Given the description of an element on the screen output the (x, y) to click on. 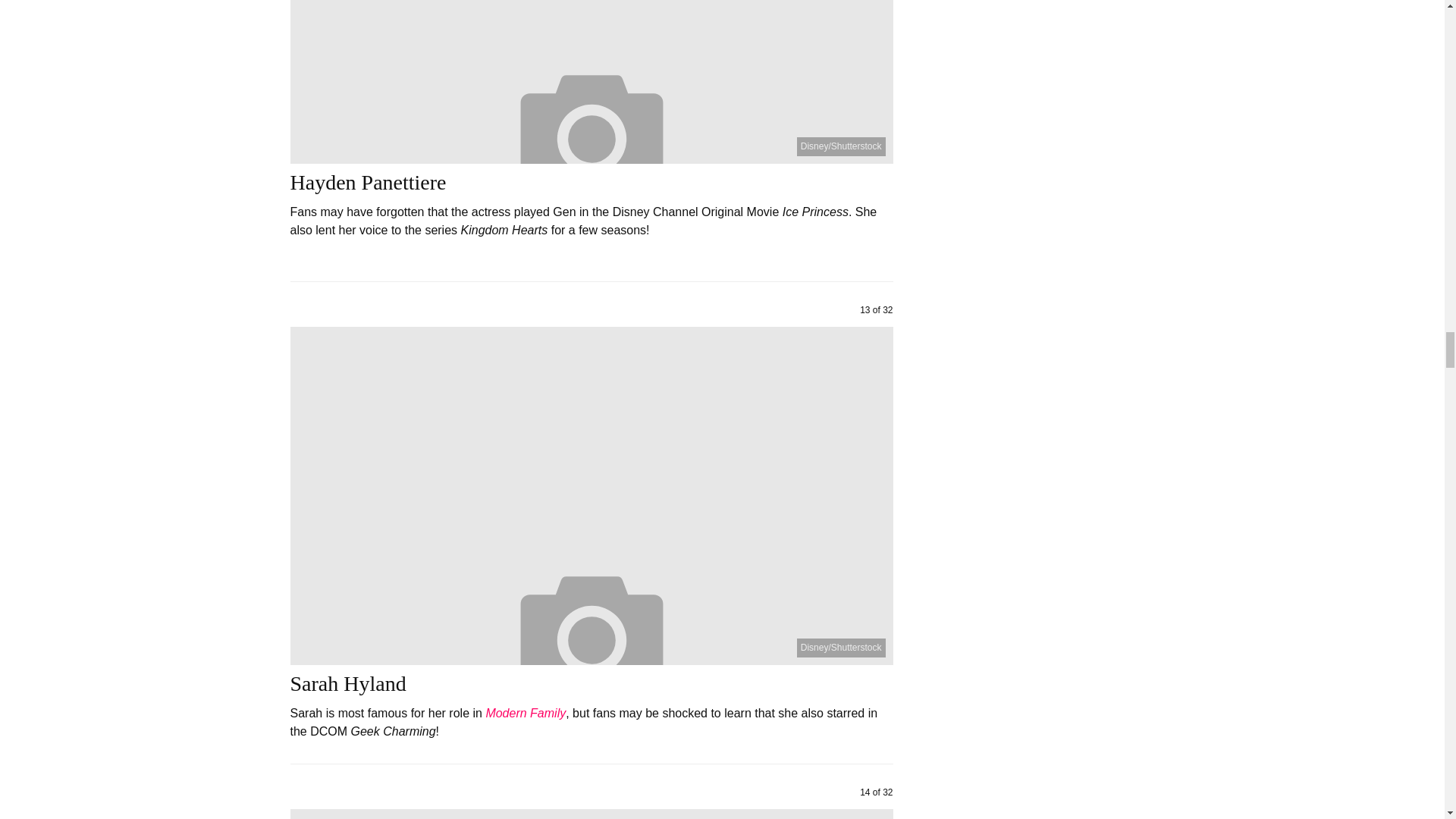
Modern Family (525, 712)
